Given the description of an element on the screen output the (x, y) to click on. 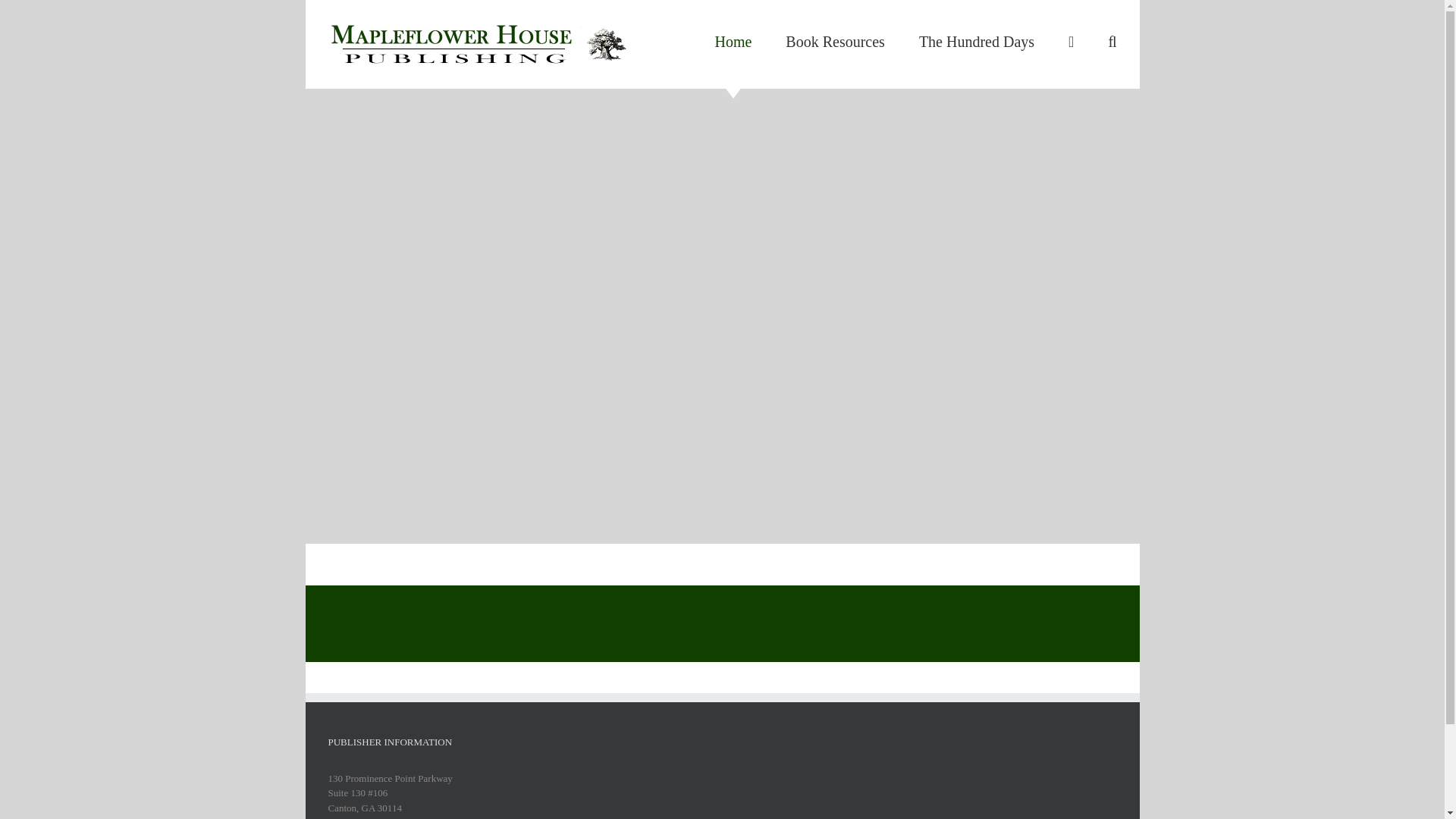
The Hundred Days (975, 41)
Book Resources (835, 41)
Email (368, 817)
Book Resources (835, 41)
